Given the description of an element on the screen output the (x, y) to click on. 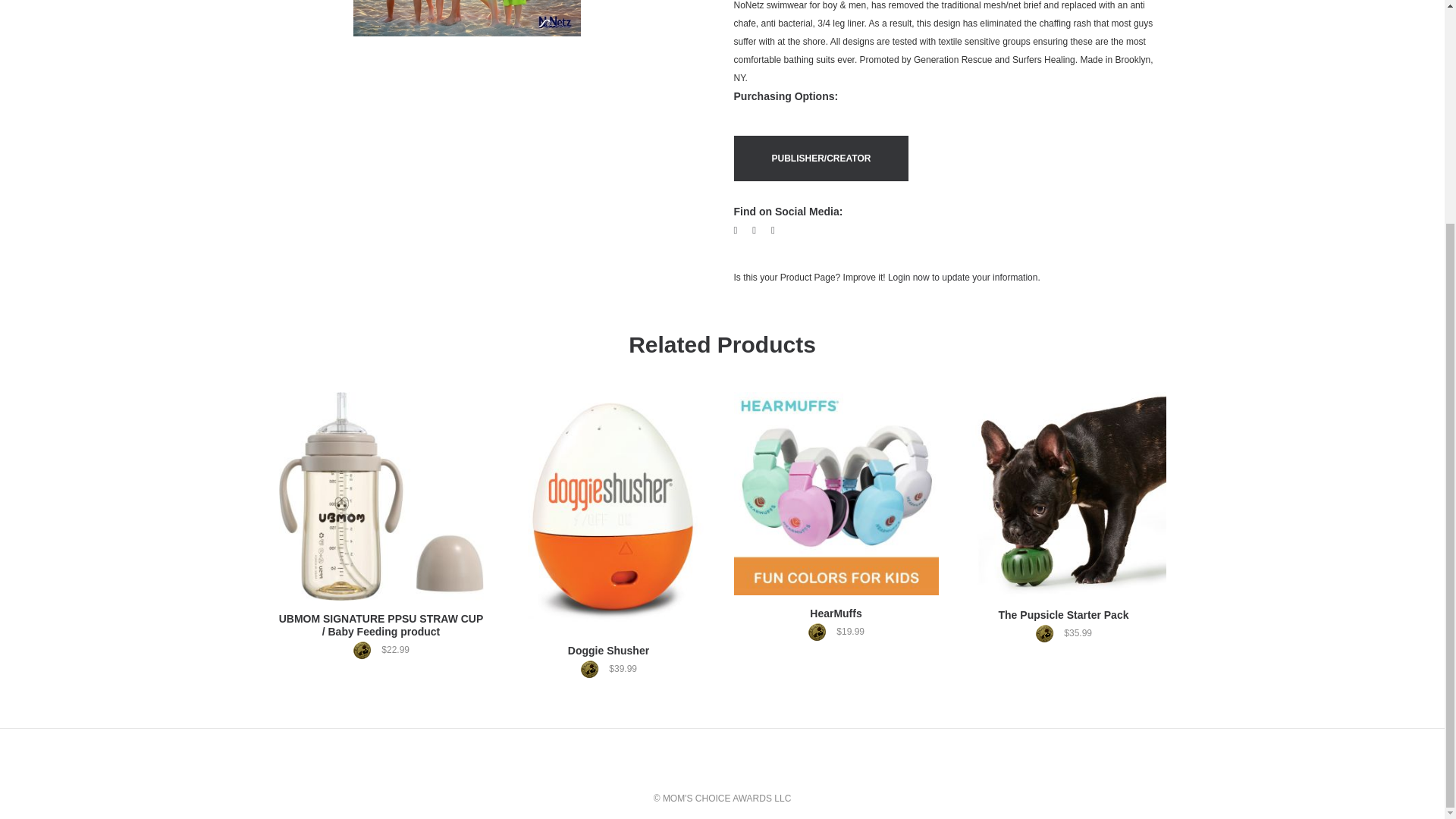
MCA Gold Award (821, 631)
MCA Gold Award (593, 669)
MCA Gold Award (1048, 633)
MCA Gold Award (365, 650)
